Given the description of an element on the screen output the (x, y) to click on. 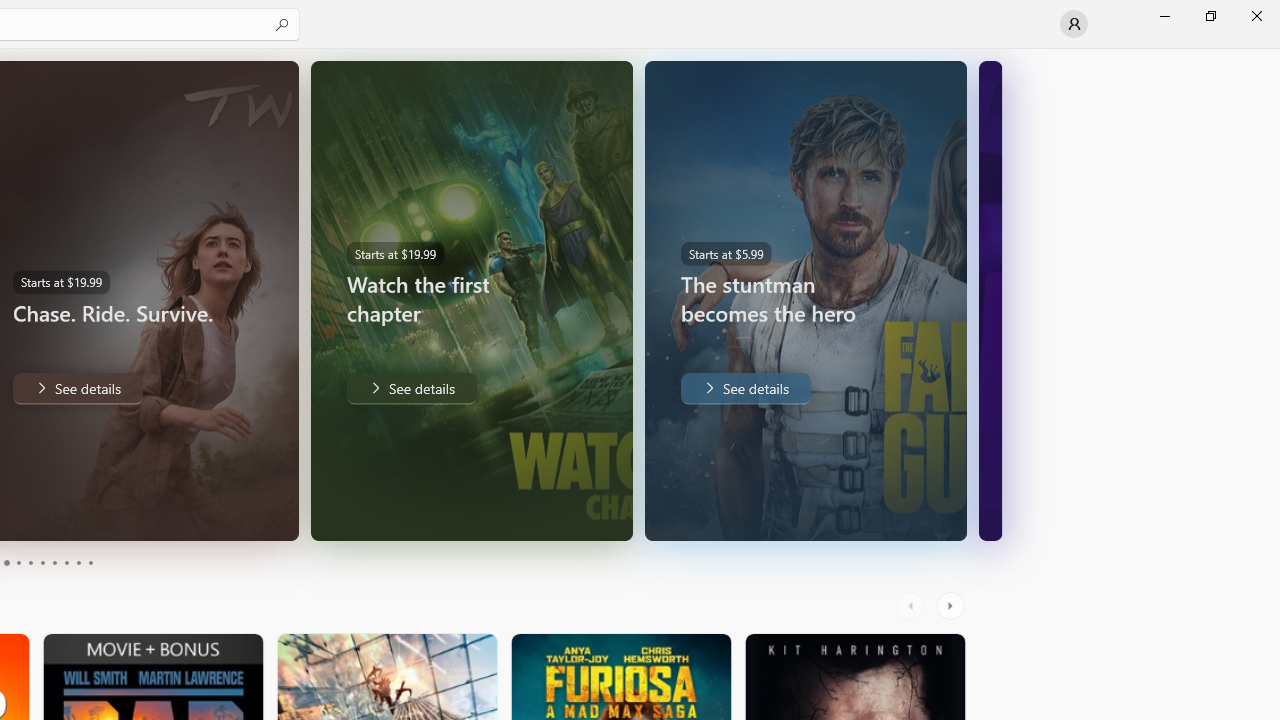
AutomationID: RightScrollButton (952, 606)
Page 9 (77, 562)
Page 10 (90, 562)
Page 6 (41, 562)
Page 5 (29, 562)
Page 8 (65, 562)
Page 3 (5, 562)
Page 7 (54, 562)
AutomationID: LeftScrollButton (913, 606)
